Given the description of an element on the screen output the (x, y) to click on. 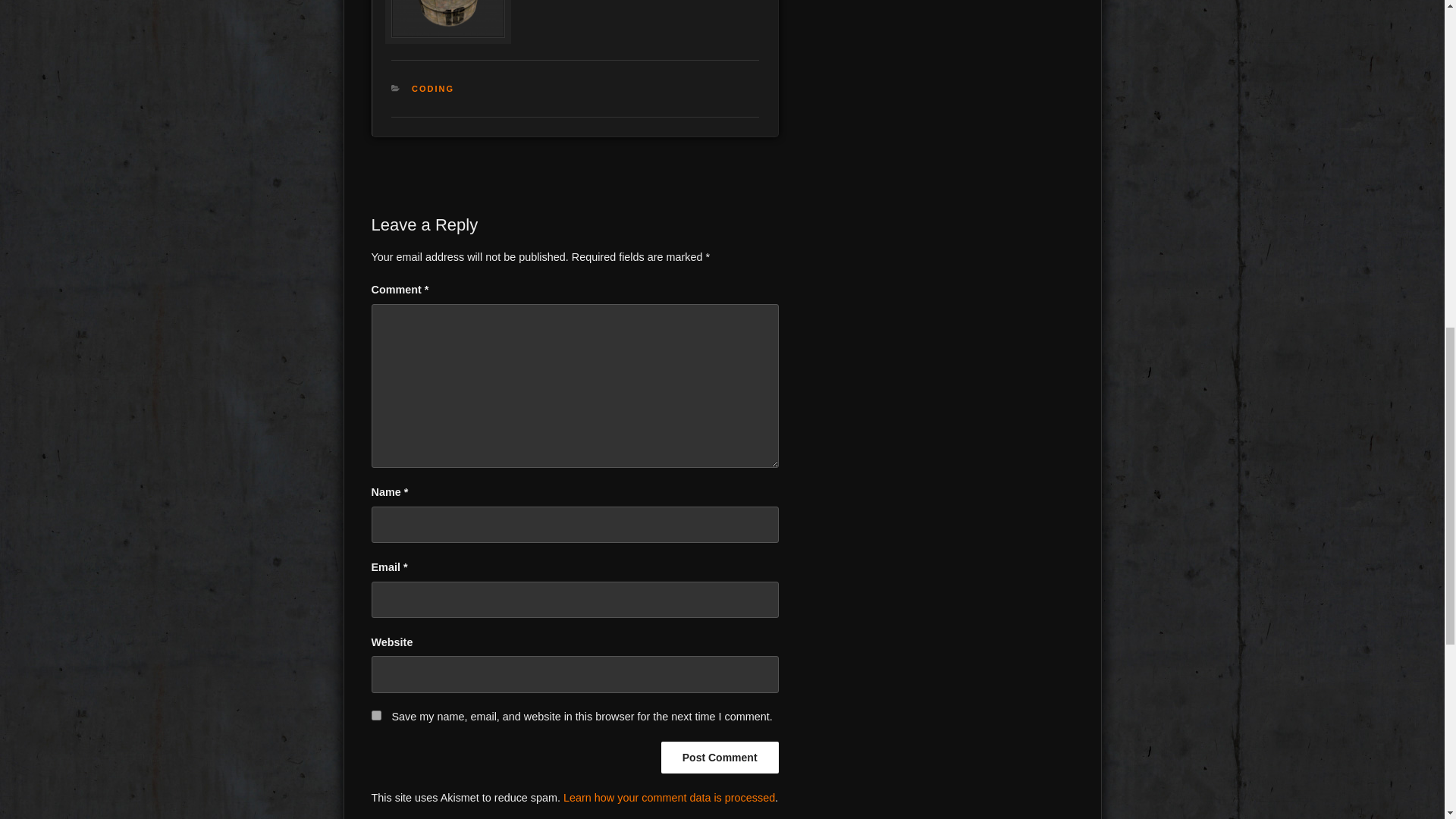
yes (376, 715)
CODING (433, 88)
Post Comment (719, 757)
